Given the description of an element on the screen output the (x, y) to click on. 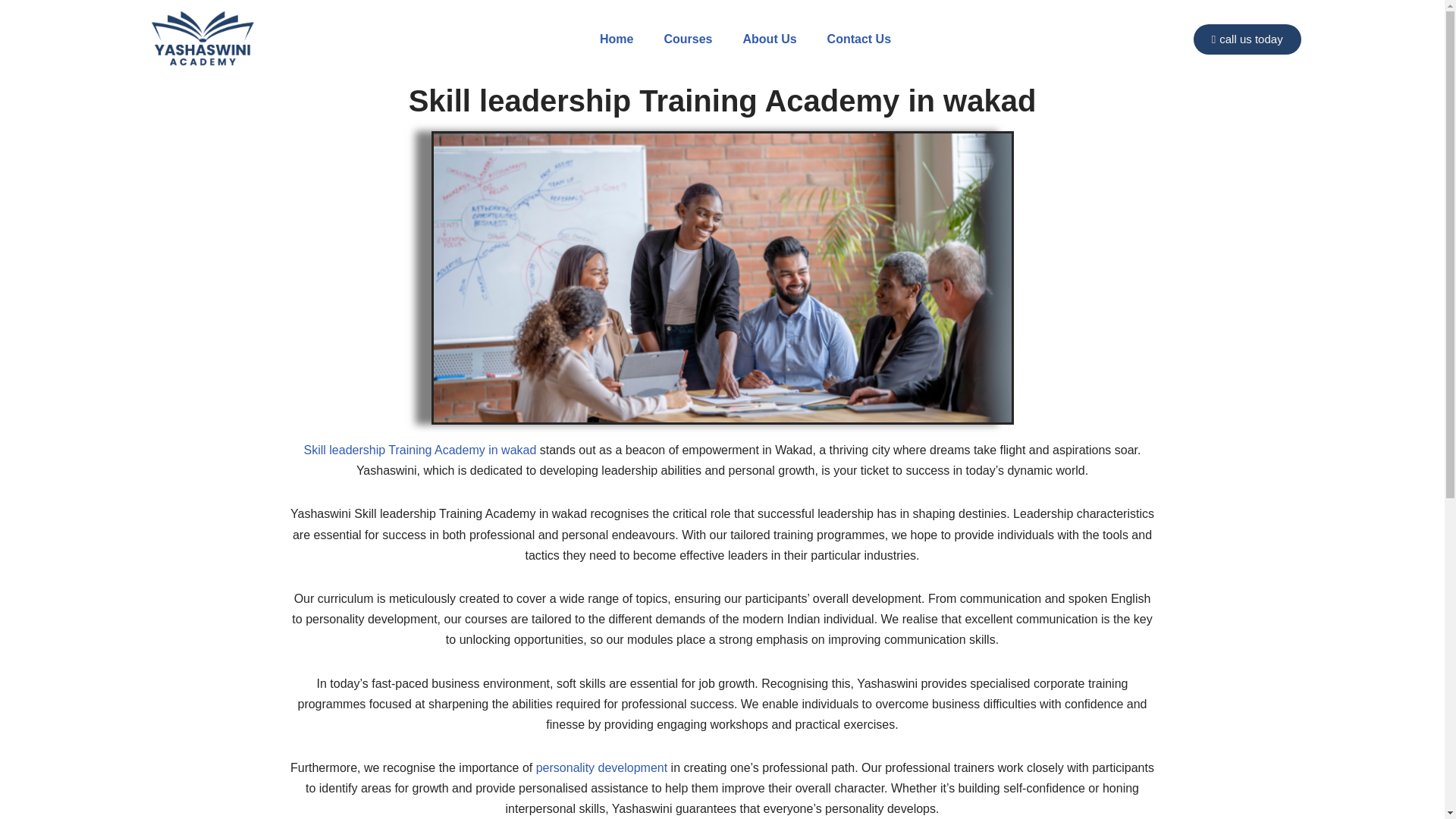
Courses (686, 38)
call us today (1247, 39)
Skill leadership Training Academy in wakad (418, 449)
About Us (770, 38)
Contact Us (858, 38)
personality development (603, 767)
Skip to content (11, 31)
Home (616, 38)
